Given the description of an element on the screen output the (x, y) to click on. 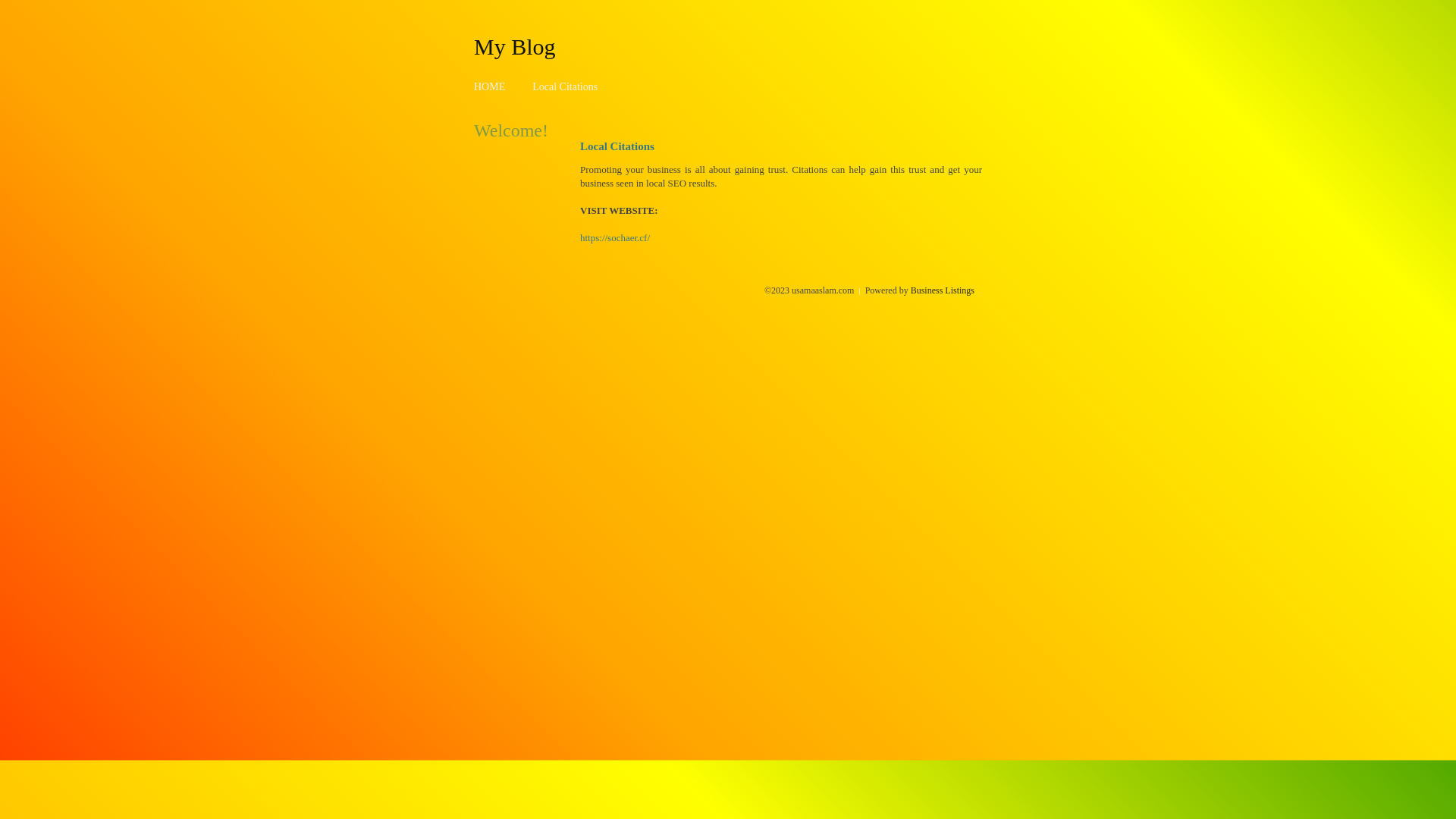
Local Citations Element type: text (564, 86)
My Blog Element type: text (514, 46)
https://sochaer.cf/ Element type: text (614, 237)
Business Listings Element type: text (942, 290)
HOME Element type: text (489, 86)
